Given the description of an element on the screen output the (x, y) to click on. 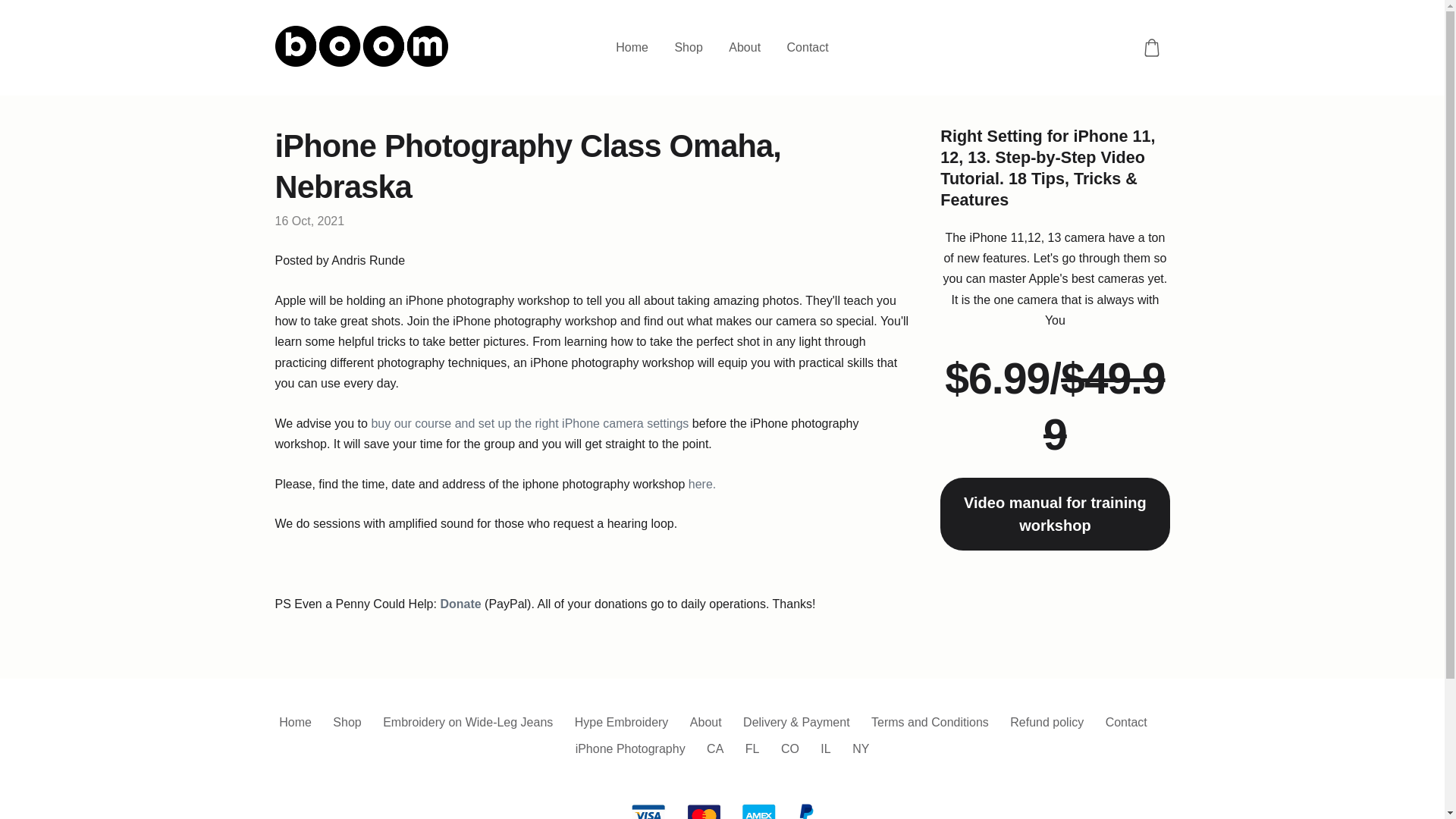
Video manual for training workshop (1054, 513)
Shop (347, 721)
Home (631, 47)
Shop (687, 47)
NY (860, 748)
Terms and Conditions (929, 721)
Refund policy (1046, 721)
iPhone Photography Class Omaha, Nebraska (527, 165)
CO (789, 748)
Home (295, 721)
buy our course and set up the right iPhone camera settings (529, 422)
FL (752, 748)
Donate (459, 603)
CA (714, 748)
here. (702, 483)
